Given the description of an element on the screen output the (x, y) to click on. 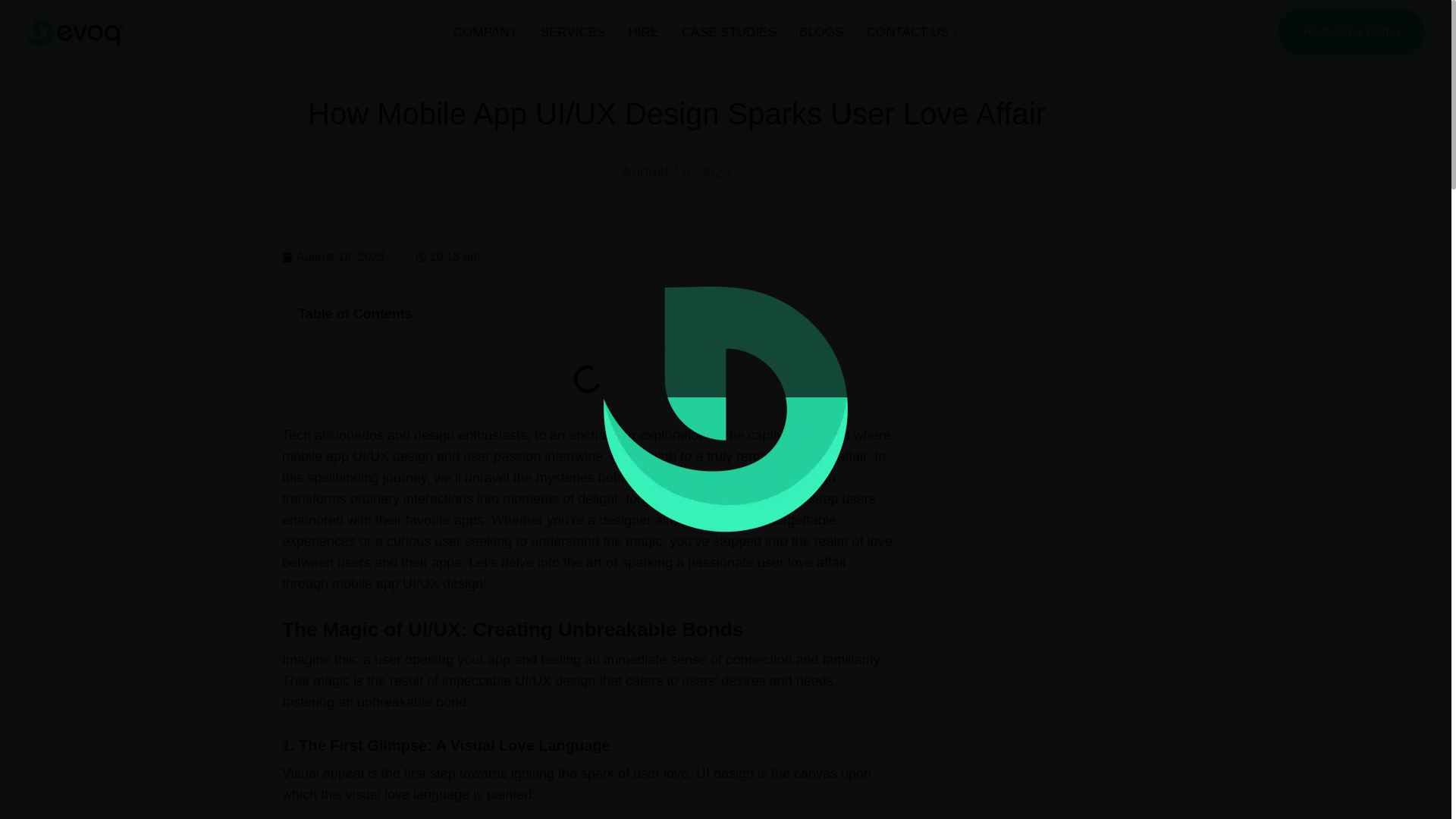
COMPANY (485, 32)
SERVICES (573, 32)
